Given the description of an element on the screen output the (x, y) to click on. 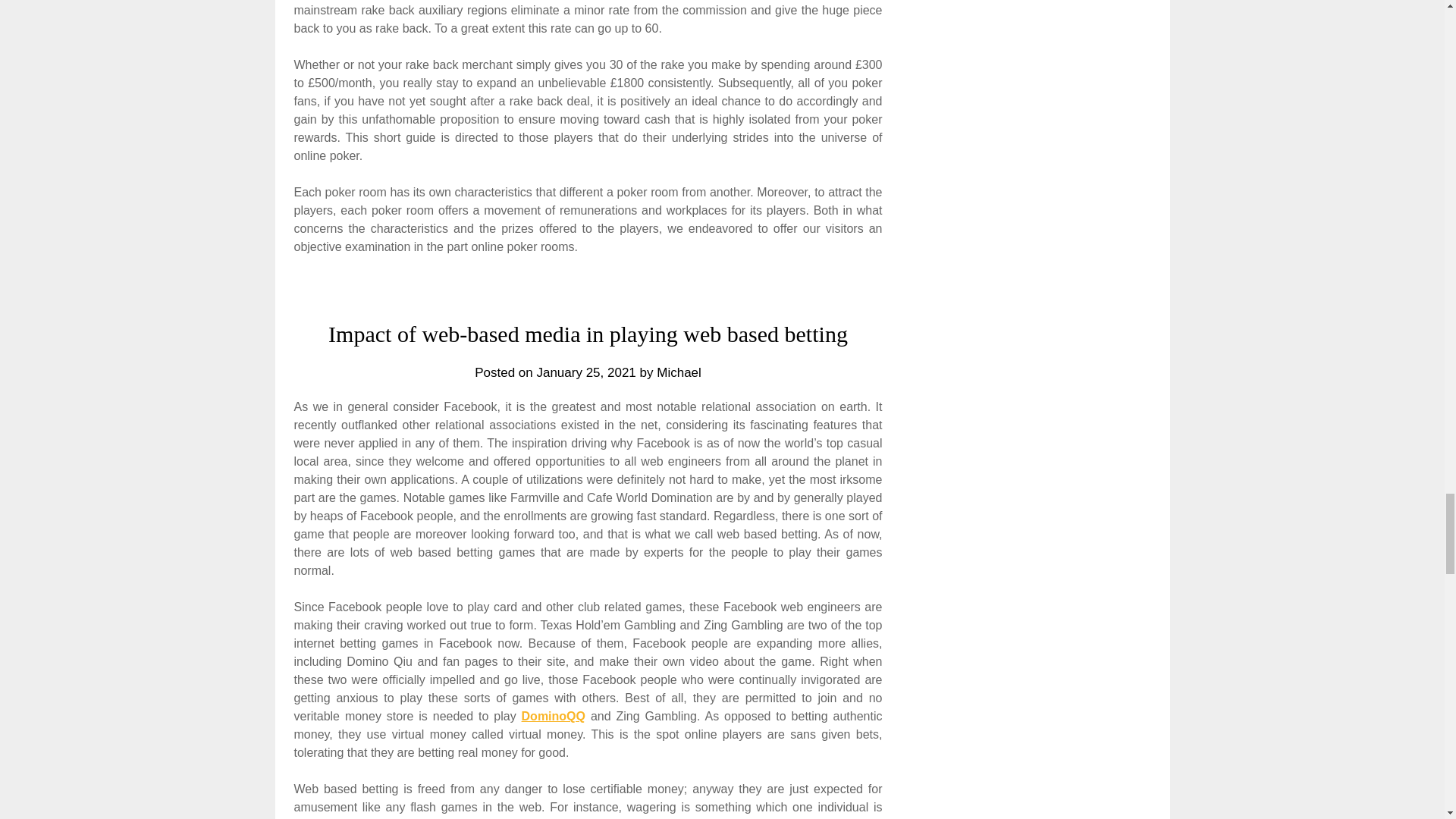
January 25, 2021 (584, 372)
Michael (678, 372)
DominoQQ (553, 716)
Impact of web-based media in playing web based betting (588, 333)
